Given the description of an element on the screen output the (x, y) to click on. 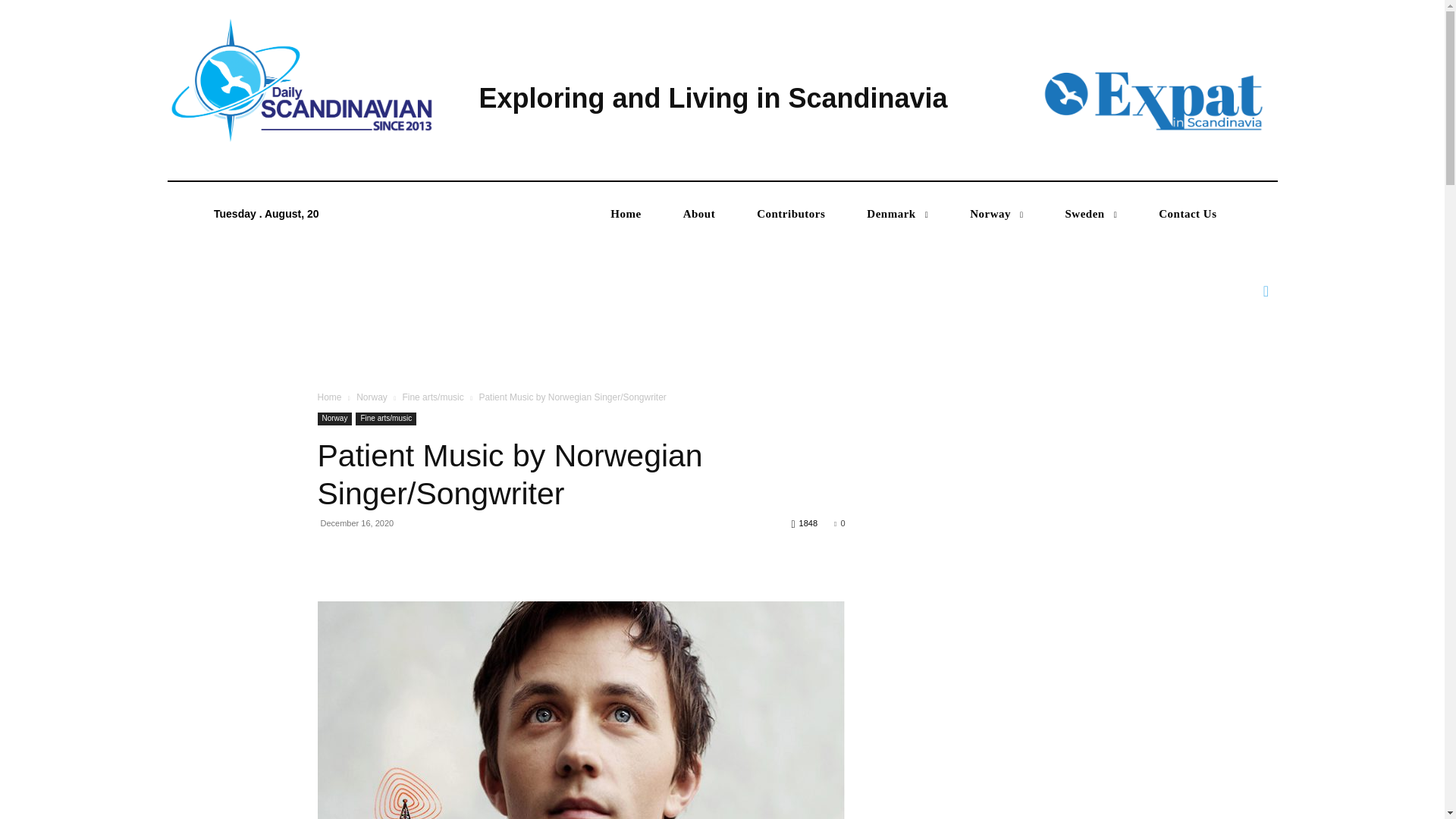
Expat in Scandinavia logo -2 (1151, 99)
221220-SondreLerche-FI (580, 710)
View all posts in Norway (371, 397)
